Given the description of an element on the screen output the (x, y) to click on. 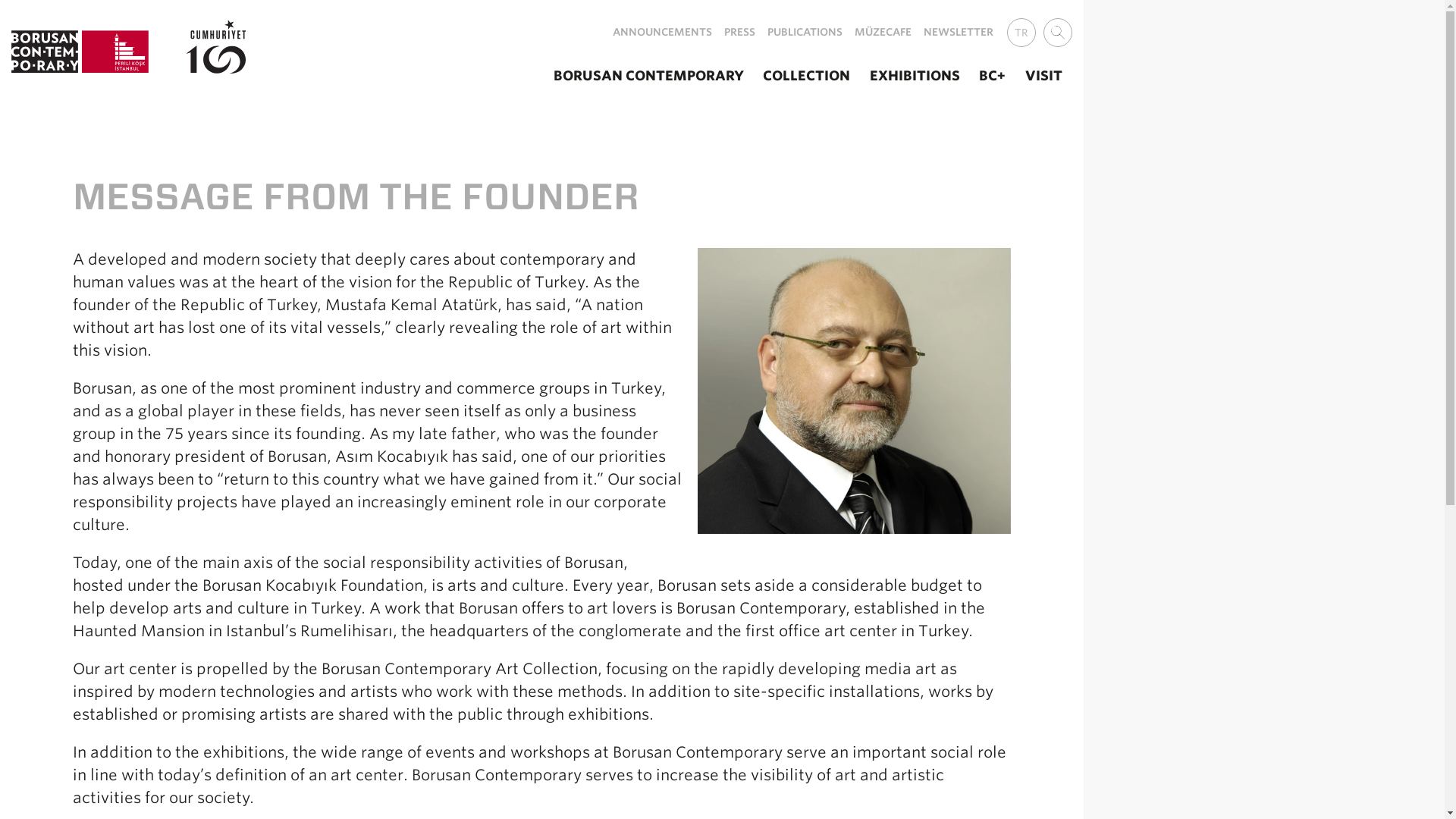
PRESS (739, 31)
BORUSAN CONTEMPORARY (648, 75)
ANNOUNCEMENTS (662, 31)
VISIT (1042, 75)
EXHIBITIONS (914, 75)
TR (1021, 32)
PUBLICATIONS (804, 31)
COLLECTION (806, 75)
NEWSLETTER (957, 31)
